Given the description of an element on the screen output the (x, y) to click on. 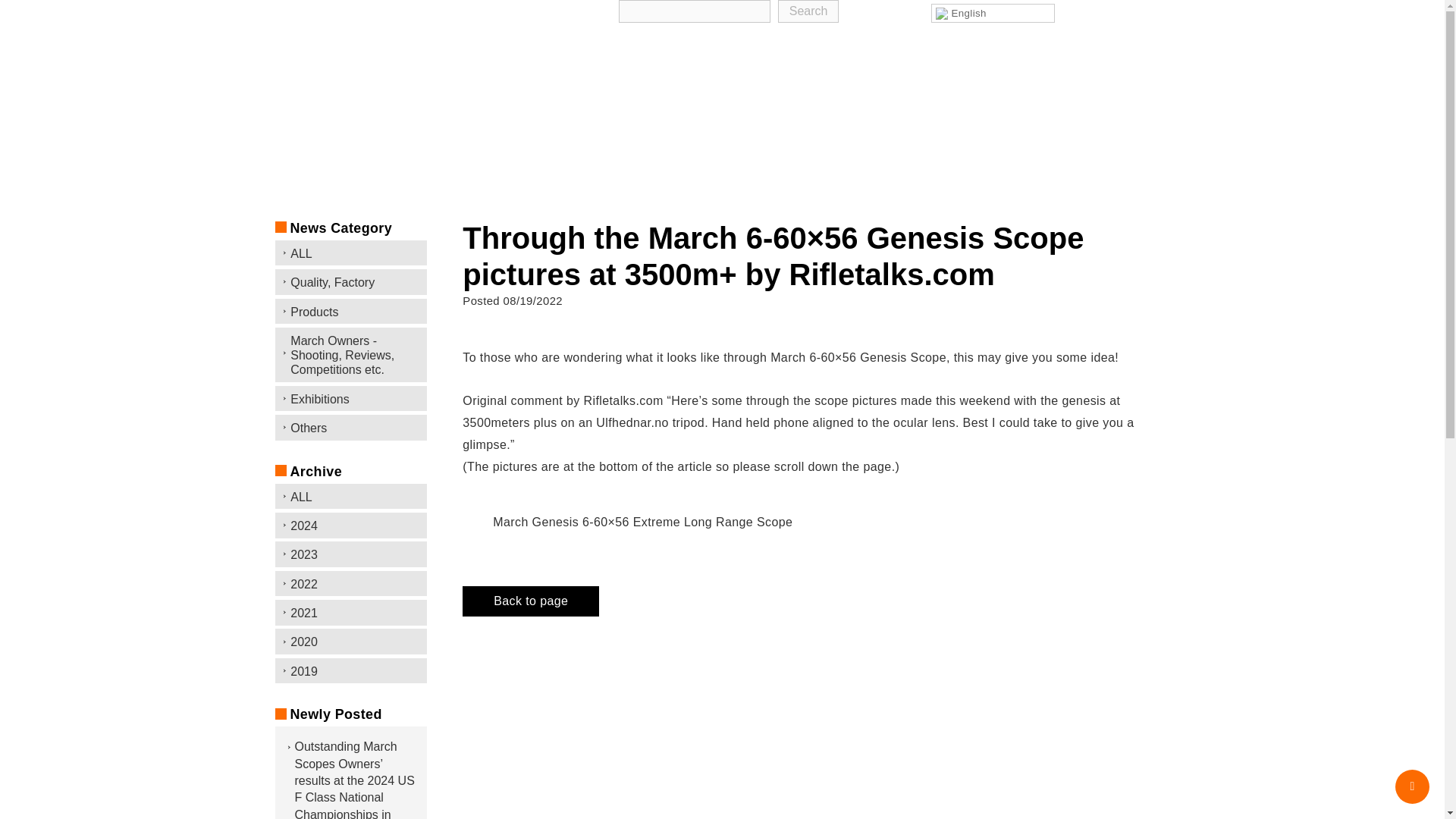
Search (807, 11)
Search (807, 11)
English (992, 13)
